Given the description of an element on the screen output the (x, y) to click on. 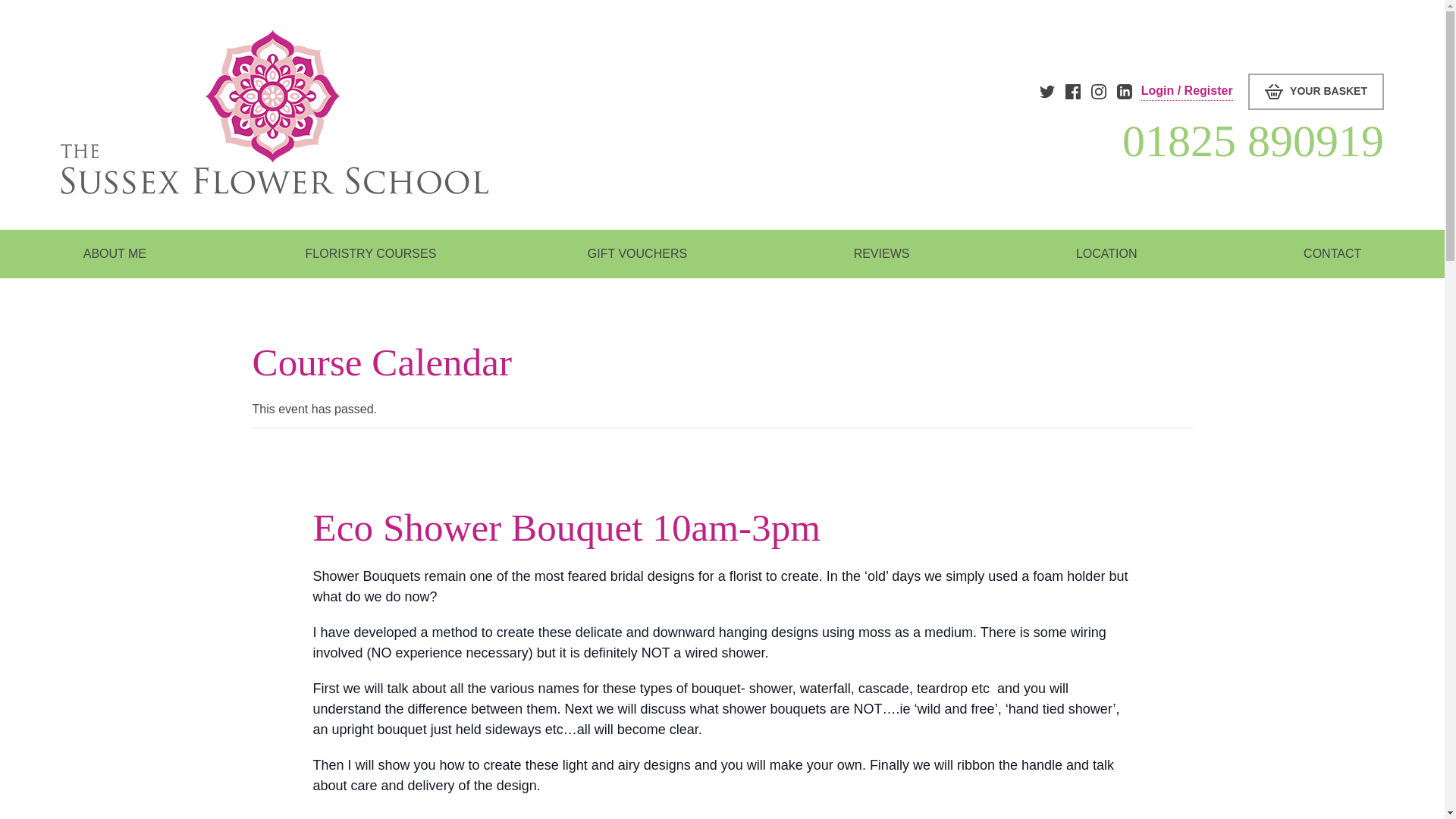
01825 890919 (1068, 140)
YOUR BASKET (1315, 90)
The Sussex Flower School (274, 112)
REVIEWS (881, 254)
ABOUT ME (115, 254)
FLORISTRY COURSES (366, 254)
GIFT VOUCHERS (636, 254)
LOCATION (1106, 254)
